Given the description of an element on the screen output the (x, y) to click on. 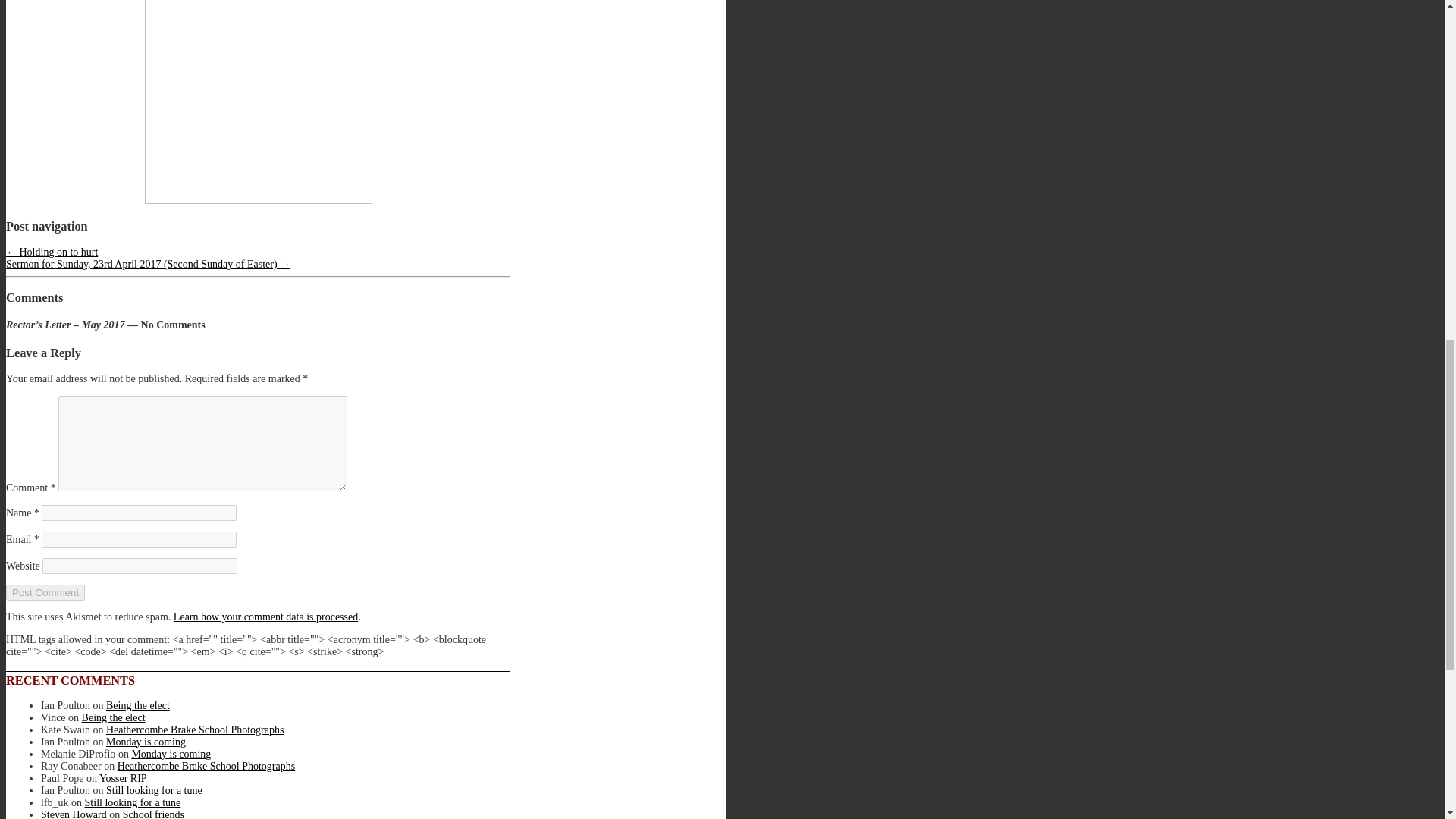
Heathercombe Brake School Photographs (206, 766)
Being the elect (138, 705)
Still looking for a tune (154, 790)
Monday is coming (146, 741)
Post Comment (44, 592)
Yosser RIP (123, 778)
Steven Howard (73, 814)
Being the elect (113, 717)
Post Comment (44, 592)
Learn how your comment data is processed (265, 616)
Heathercombe Brake School Photographs (194, 729)
Still looking for a tune (132, 802)
School friends (153, 814)
Monday is coming (171, 754)
